Given the description of an element on the screen output the (x, y) to click on. 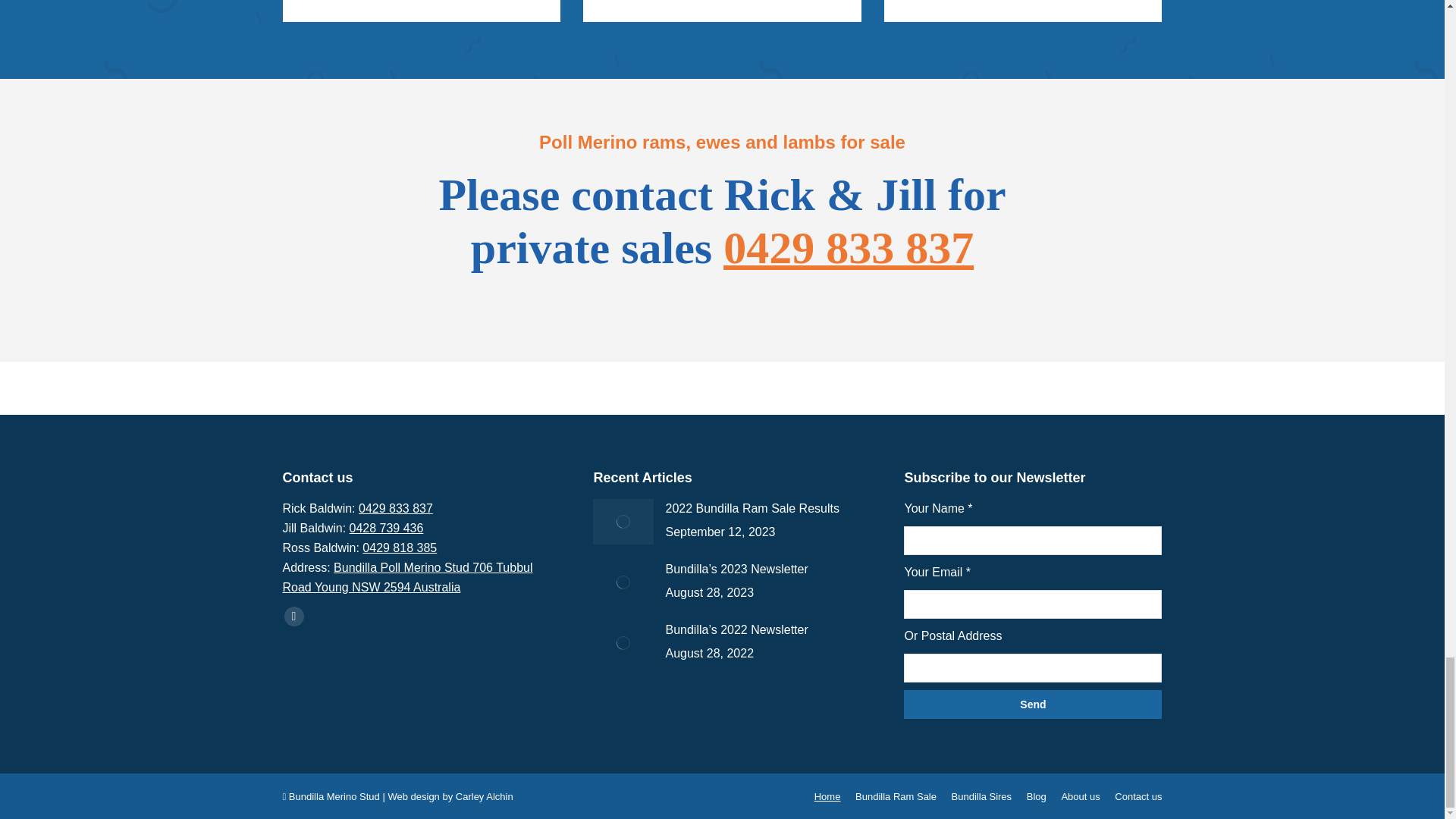
Send (1032, 704)
